Given the description of an element on the screen output the (x, y) to click on. 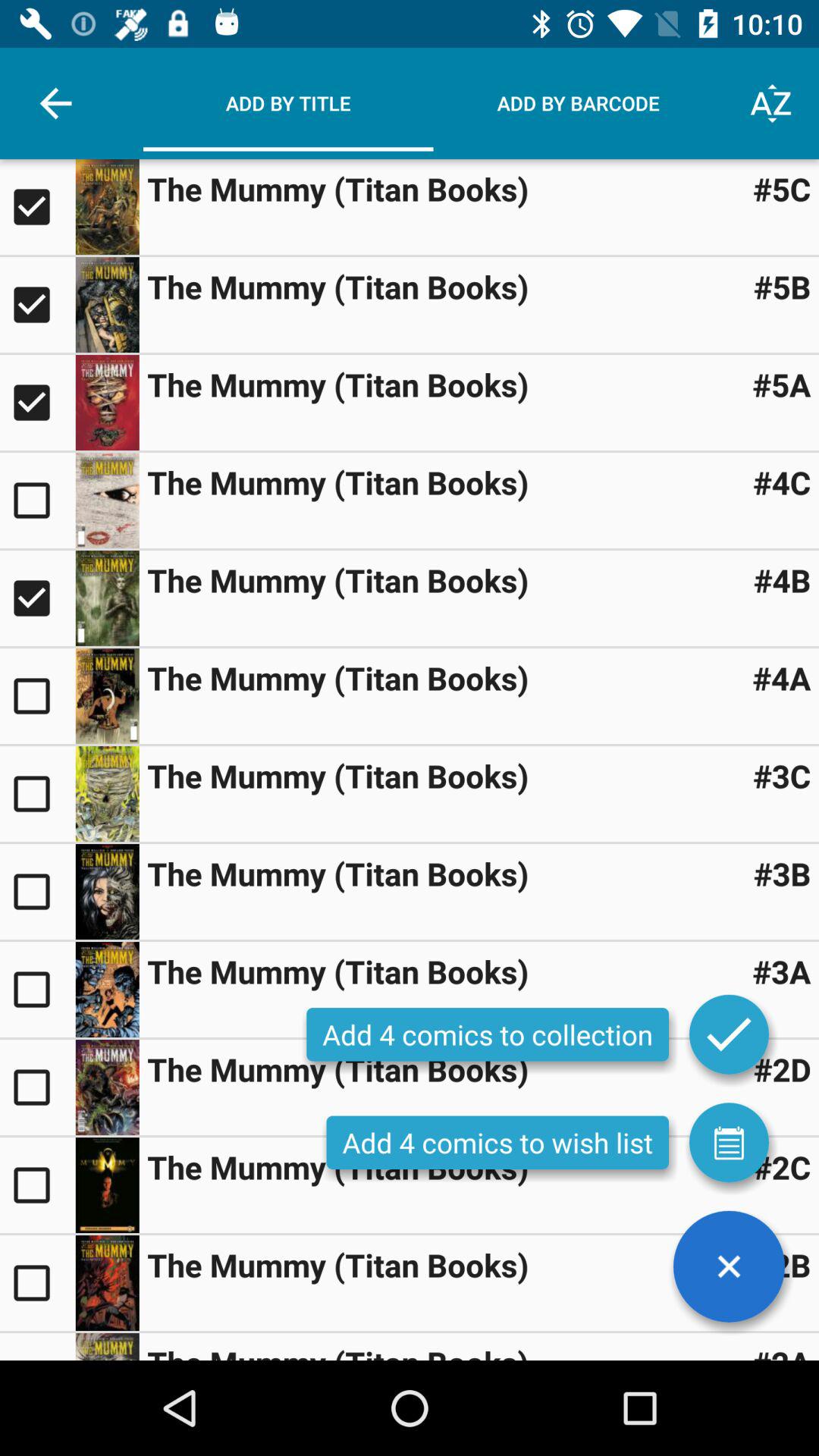
swipe until the #5b (782, 286)
